Given the description of an element on the screen output the (x, y) to click on. 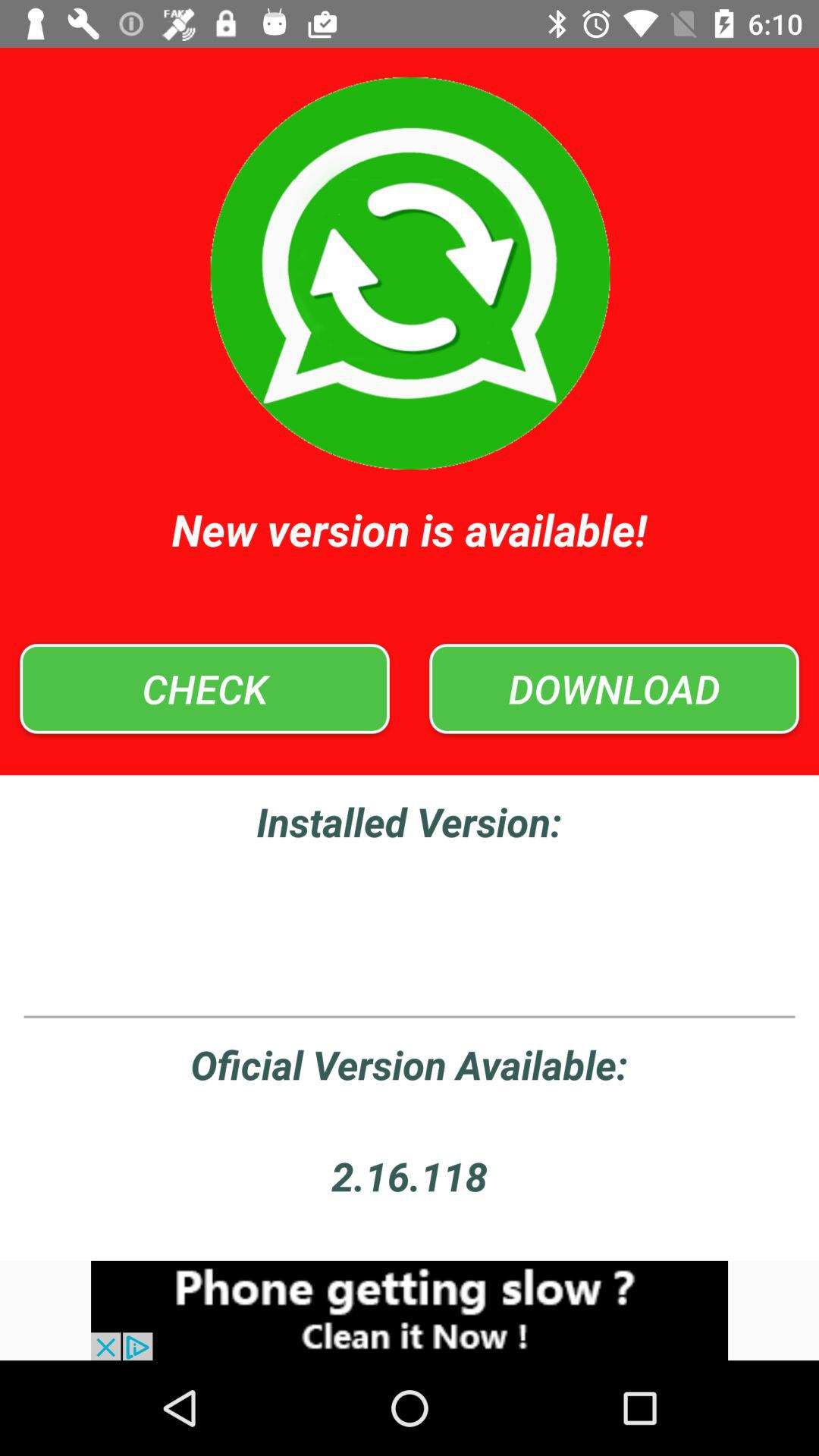
to clean the phone (409, 1310)
